Given the description of an element on the screen output the (x, y) to click on. 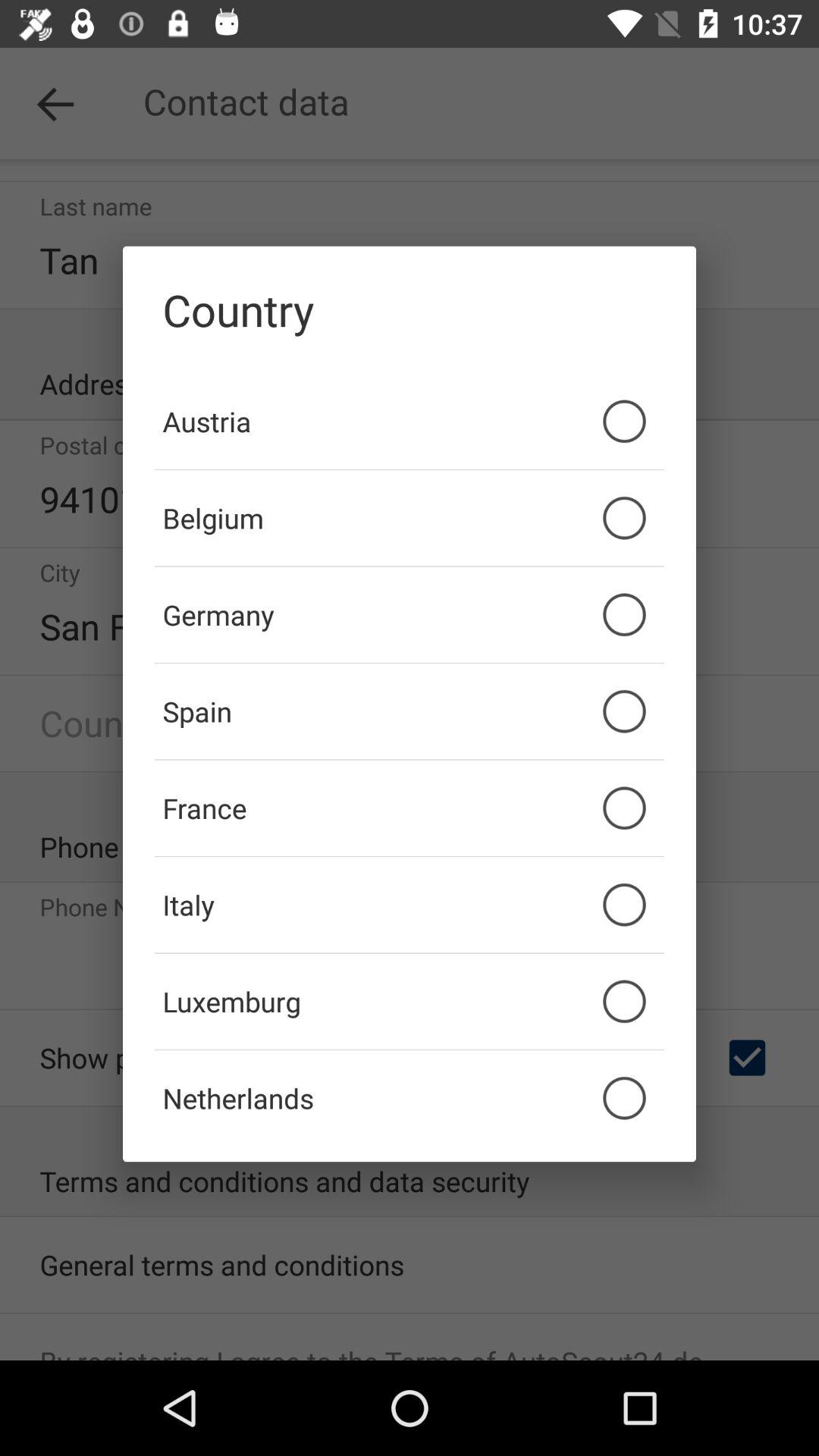
scroll until belgium (409, 517)
